Given the description of an element on the screen output the (x, y) to click on. 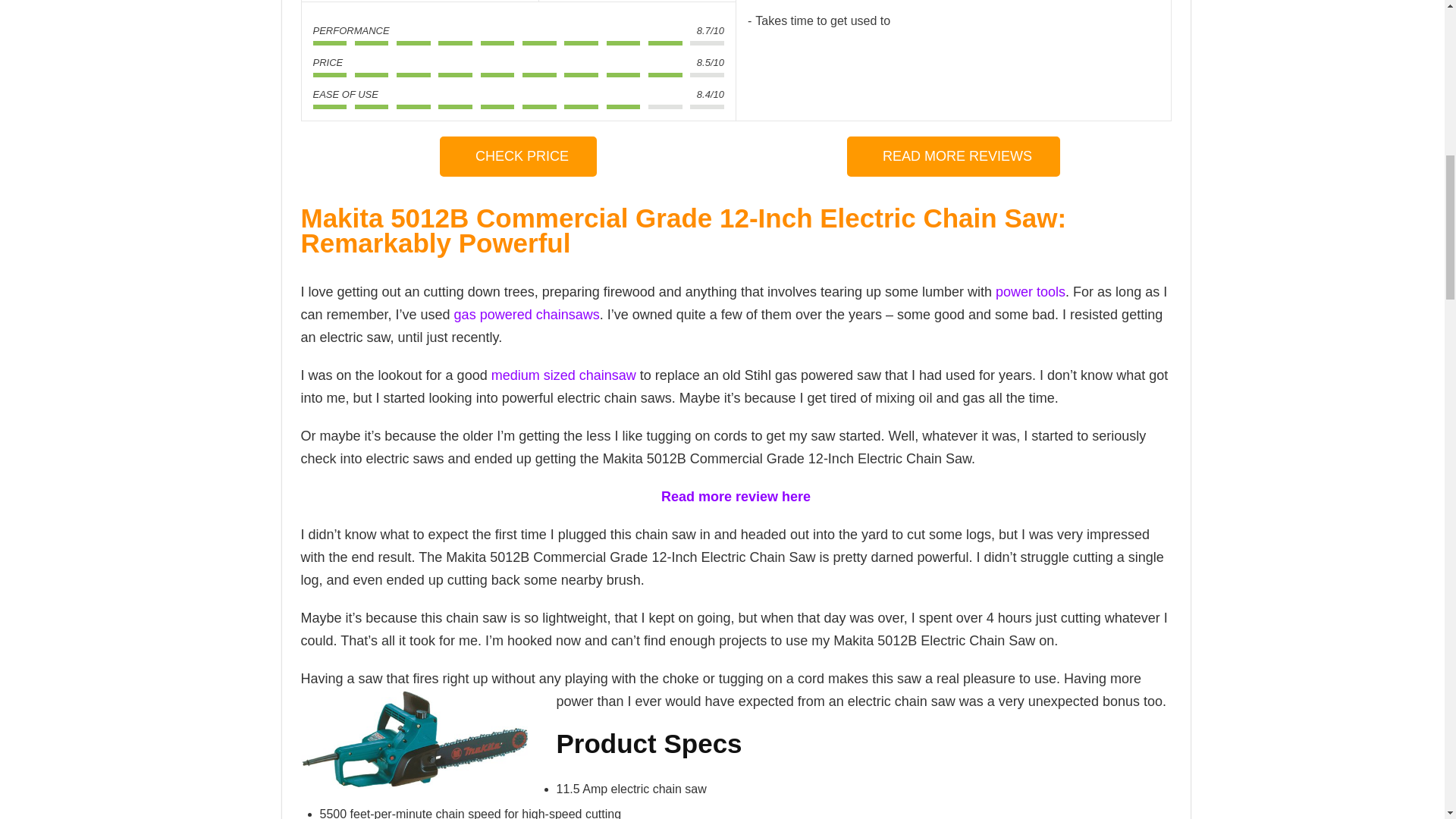
power tools (1030, 291)
CHECK PRICE (517, 156)
READ MORE REVIEWS (953, 156)
Read more review here (735, 496)
gas powered chainsaws (526, 314)
medium sized chainsaw (564, 375)
